Given the description of an element on the screen output the (x, y) to click on. 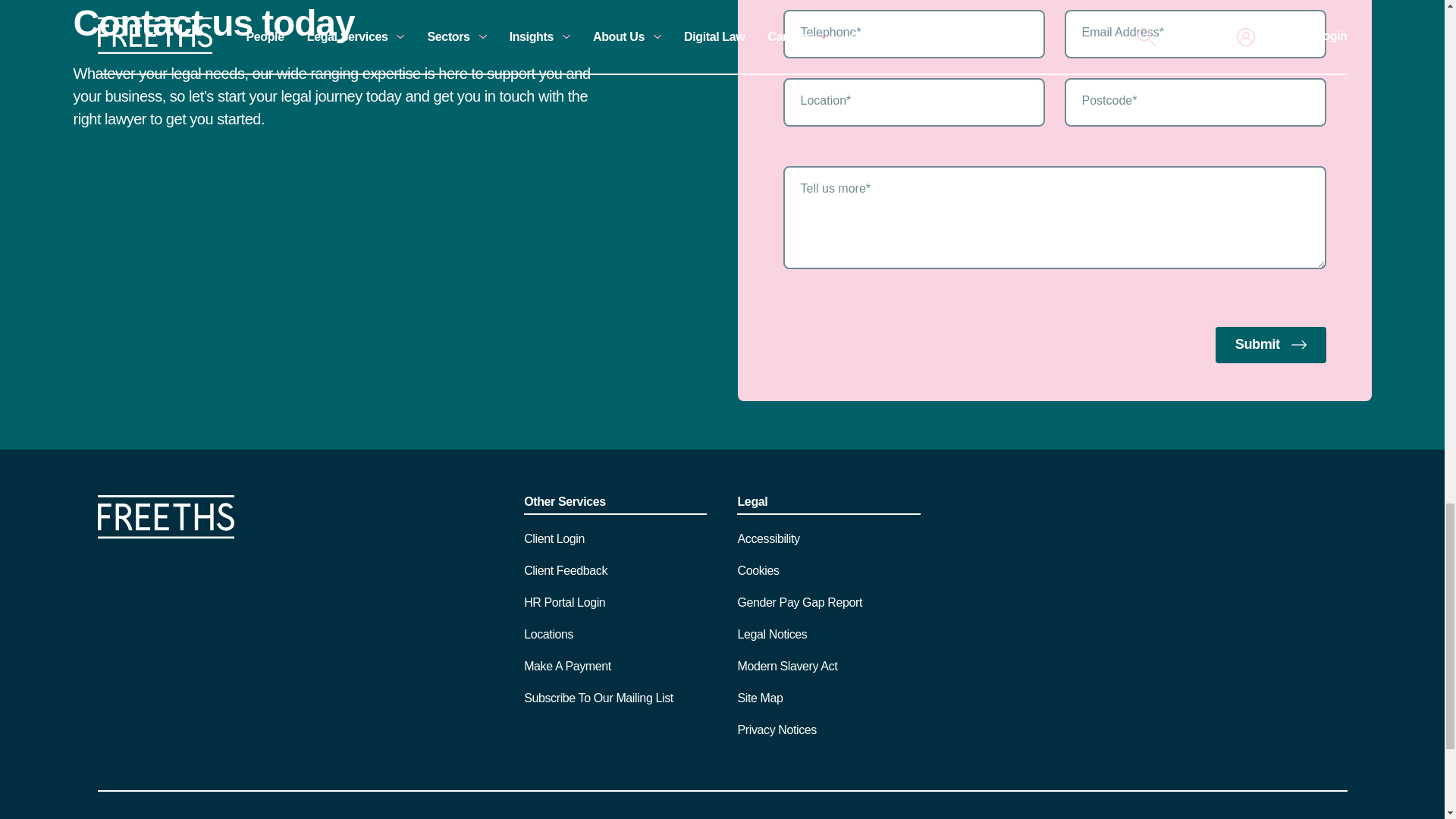
HR Portal Login (564, 602)
Home (164, 534)
Other Services (615, 505)
Submit (1270, 344)
Client Login (554, 538)
Client Feedback (565, 570)
